Given the description of an element on the screen output the (x, y) to click on. 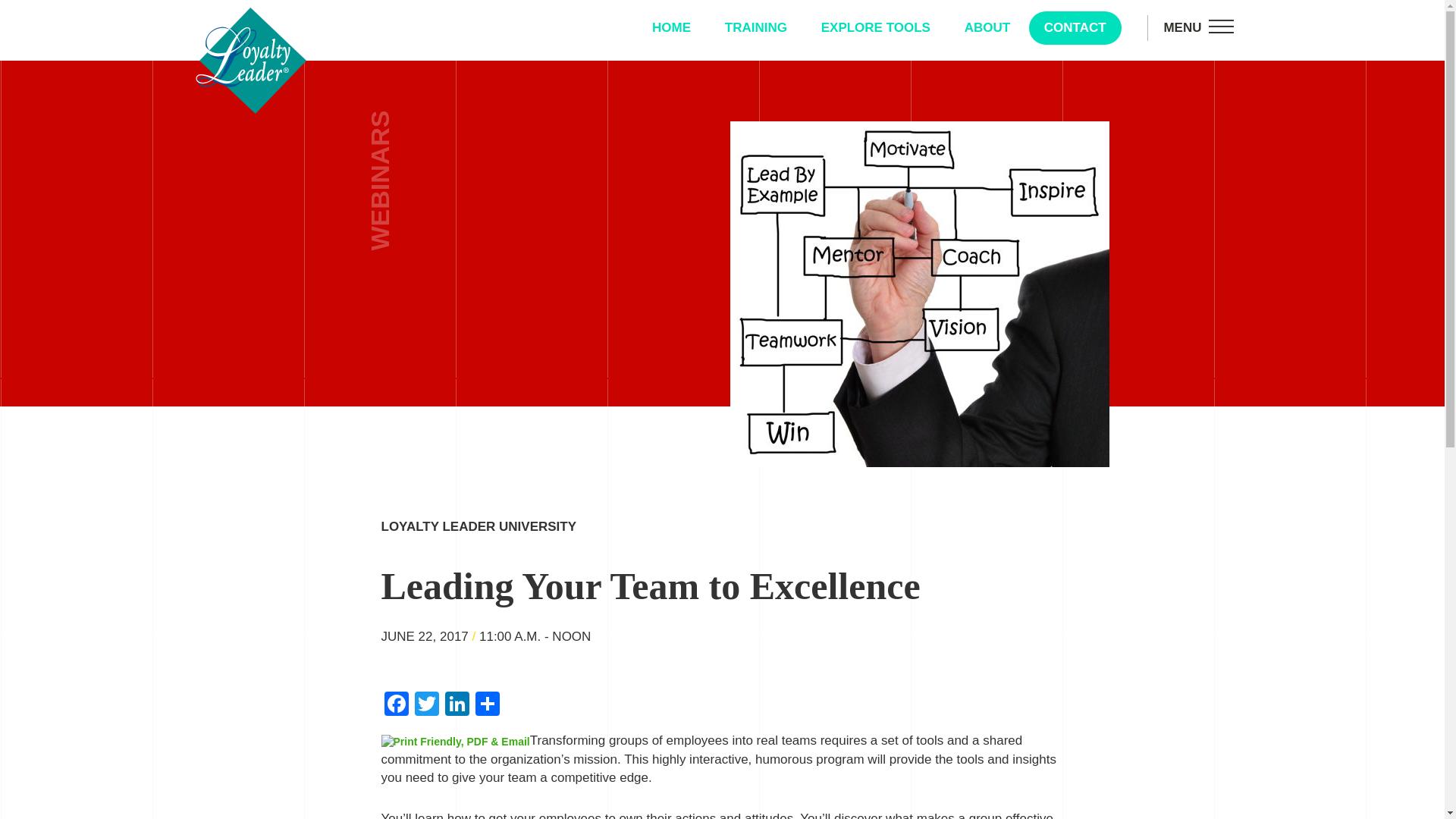
HOME (671, 27)
Share (486, 705)
Twitter (425, 705)
TRAINING (756, 27)
LinkedIn (456, 705)
Facebook (395, 705)
ABOUT (987, 27)
EXPLORE TOOLS (875, 27)
MENU (1198, 27)
LinkedIn (456, 705)
Facebook (395, 705)
Twitter (425, 705)
CONTACT (1075, 28)
